Given the description of an element on the screen output the (x, y) to click on. 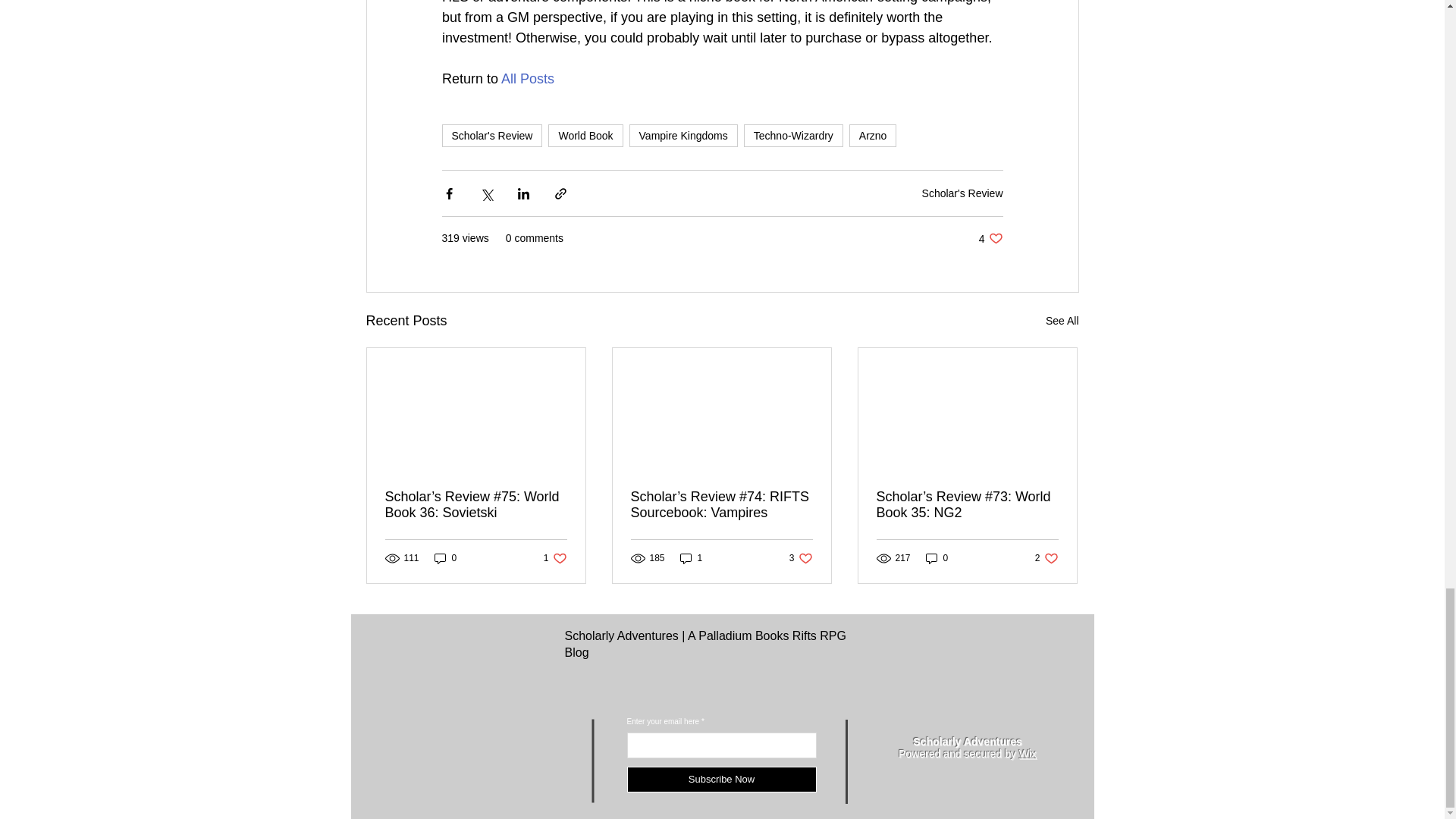
1 (691, 558)
All Posts (527, 78)
See All (1061, 321)
Wix (1027, 753)
Techno-Wizardry (793, 135)
Scholar's Review (962, 193)
Vampire Kingdoms (1046, 558)
0 (555, 558)
